Given the description of an element on the screen output the (x, y) to click on. 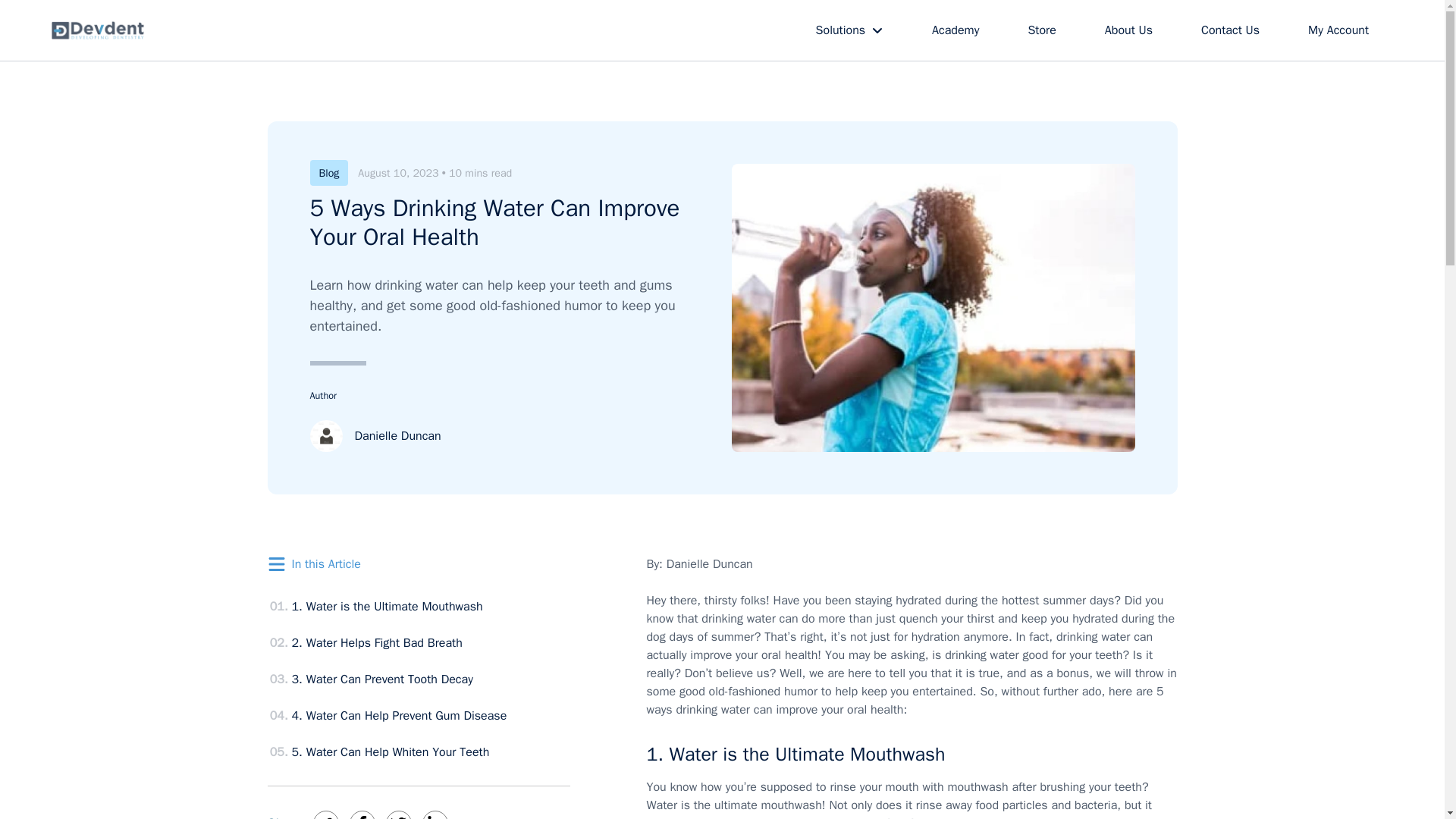
5. Water Can Help Whiten Your Teeth (390, 752)
About Us (1128, 30)
My Account (1337, 30)
Contact Us (1230, 30)
4. Water Can Help Prevent Gum Disease (398, 715)
Academy (955, 30)
3. Water Can Prevent Tooth Decay (381, 679)
2. Water Helps Fight Bad Breath (376, 642)
Store (1040, 30)
Share (283, 816)
Solutions (849, 30)
1. Water is the Ultimate Mouthwash (386, 606)
